Given the description of an element on the screen output the (x, y) to click on. 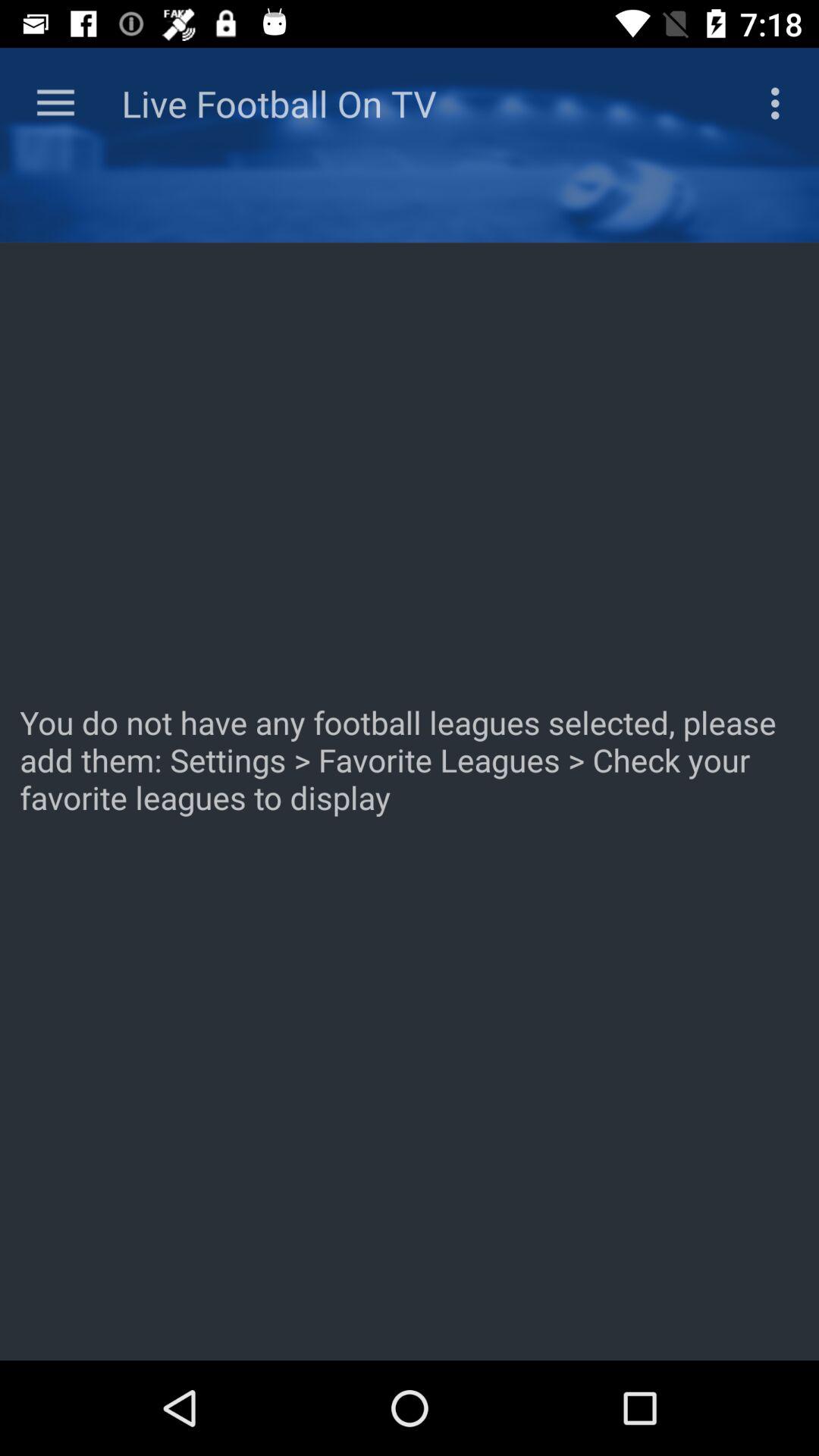
launch icon above you do not icon (779, 103)
